Given the description of an element on the screen output the (x, y) to click on. 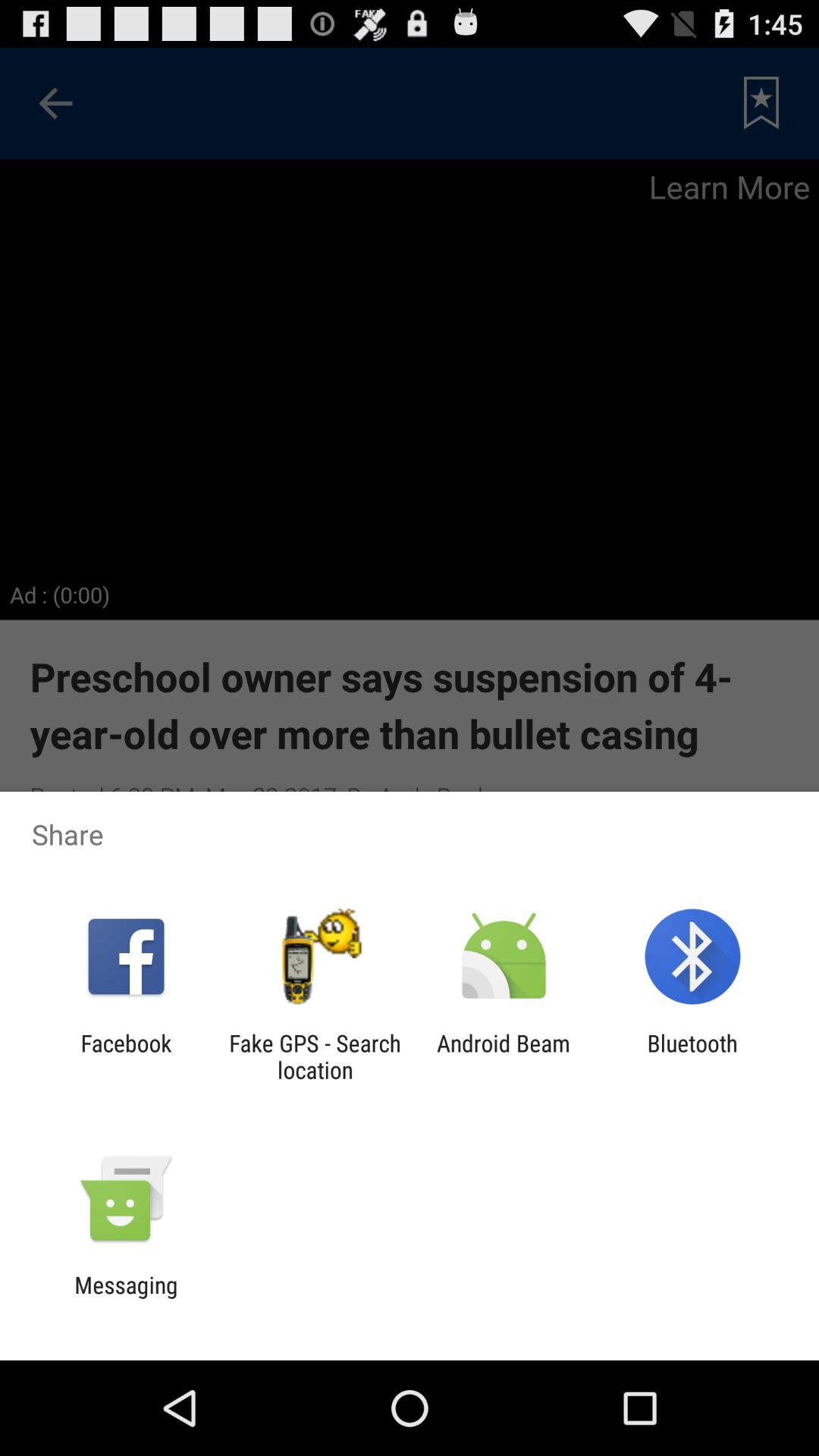
turn off the bluetooth item (692, 1056)
